Given the description of an element on the screen output the (x, y) to click on. 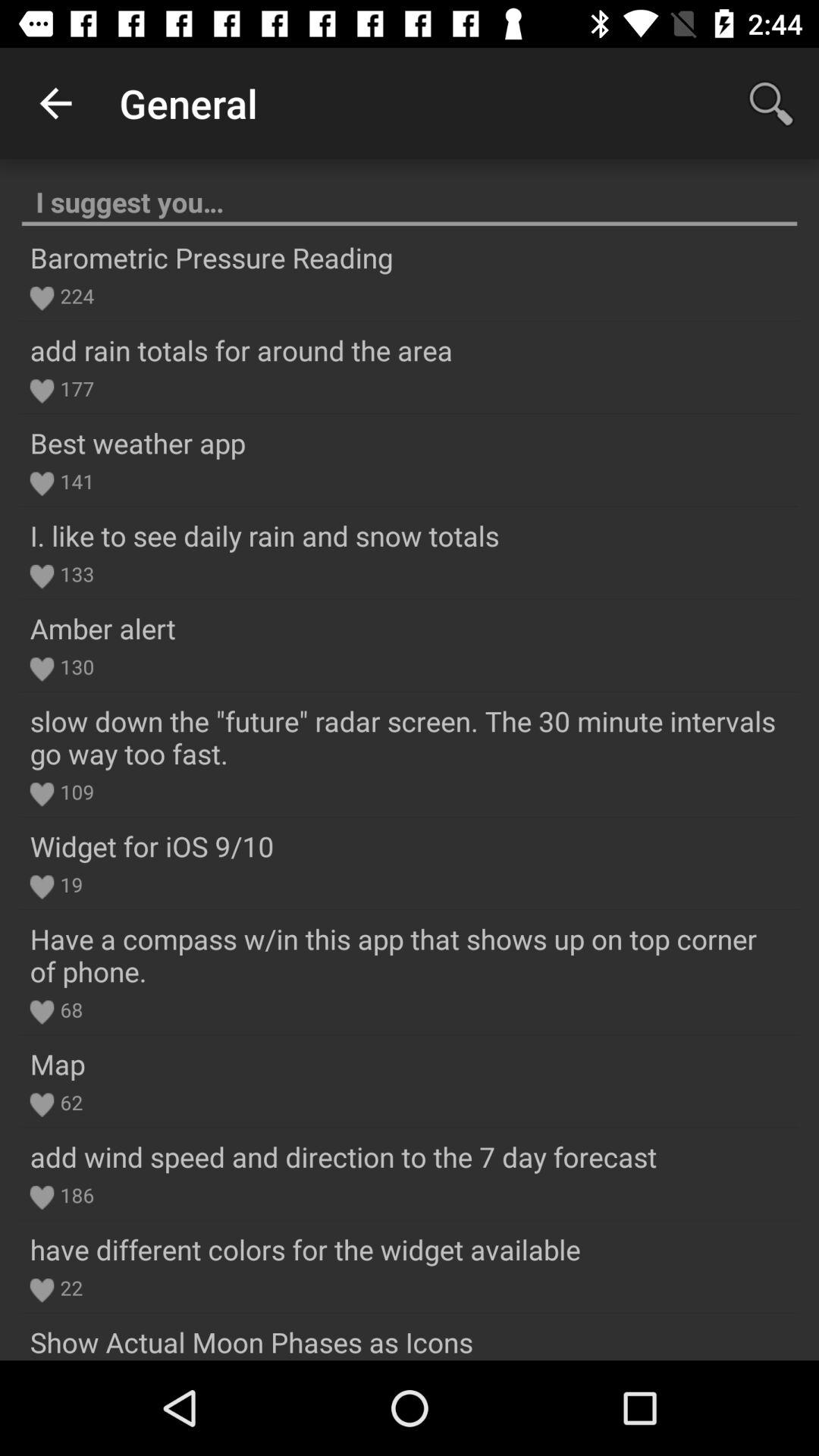
open the icon below the have a compass icon (68, 1009)
